Given the description of an element on the screen output the (x, y) to click on. 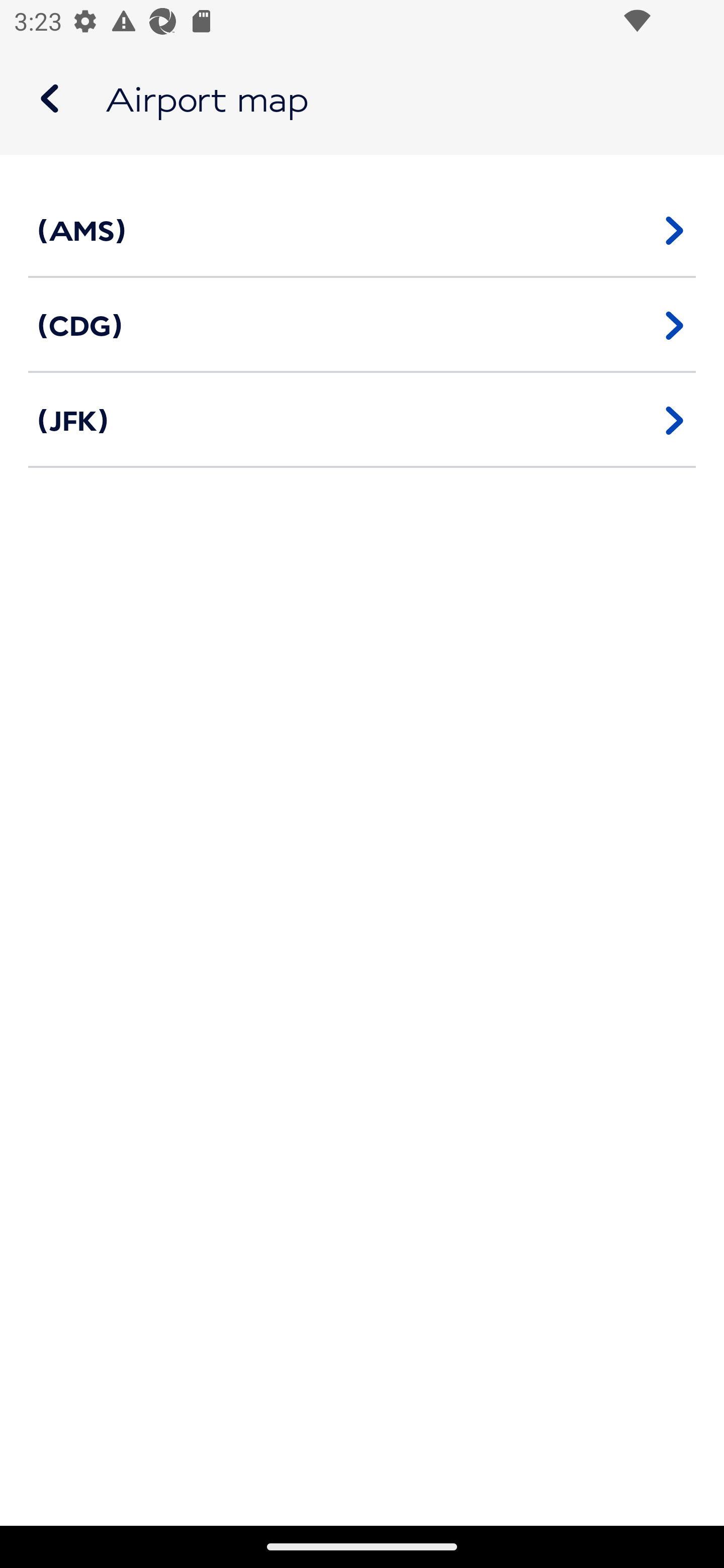
Airport map (362, 98)
 (AMS) (361, 230)
 (CDG) (361, 325)
 (JFK) (361, 420)
